Given the description of an element on the screen output the (x, y) to click on. 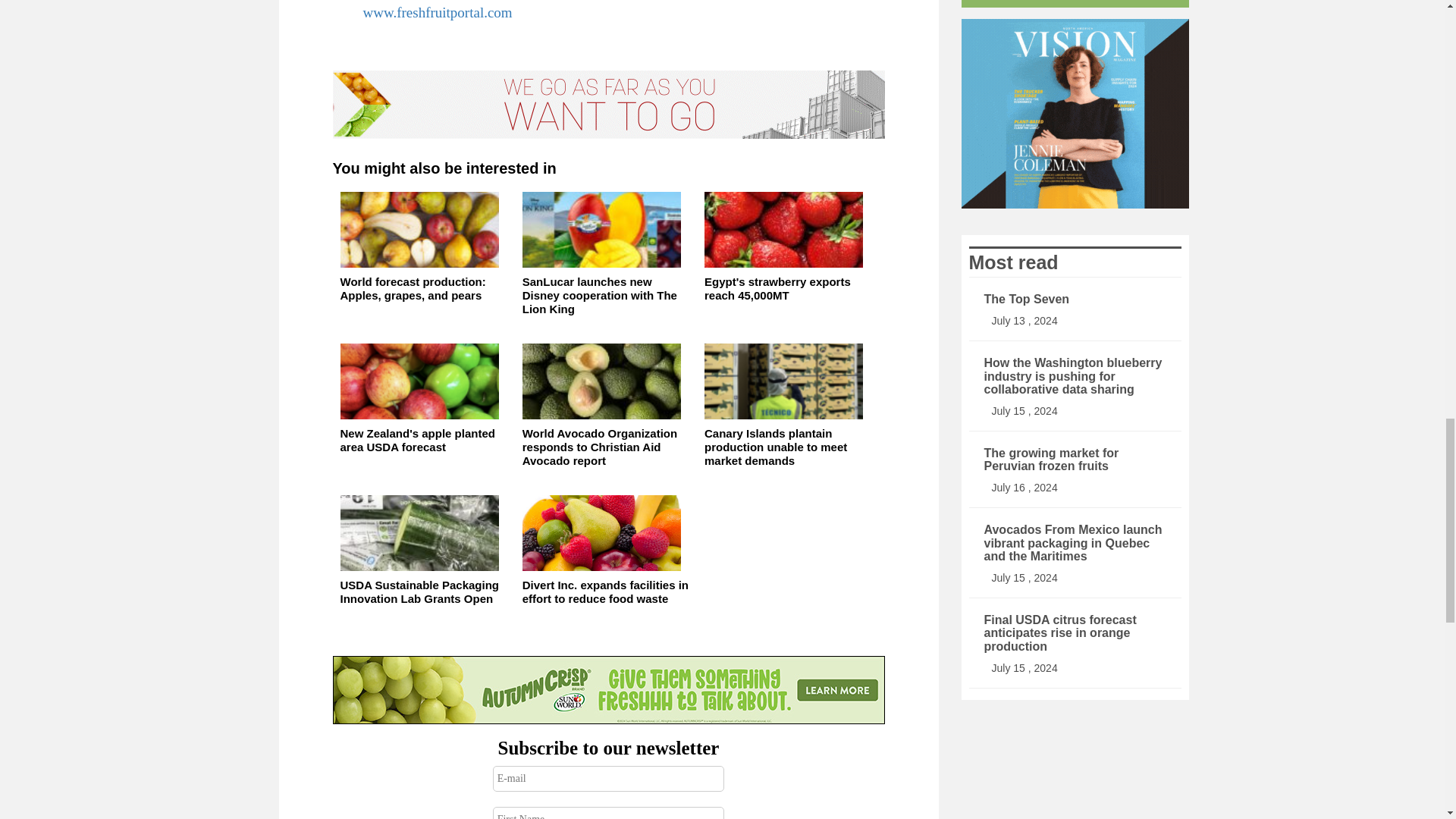
Permanent Link to Egypt's strawberry exports reach 45,000MT (788, 259)
